Given the description of an element on the screen output the (x, y) to click on. 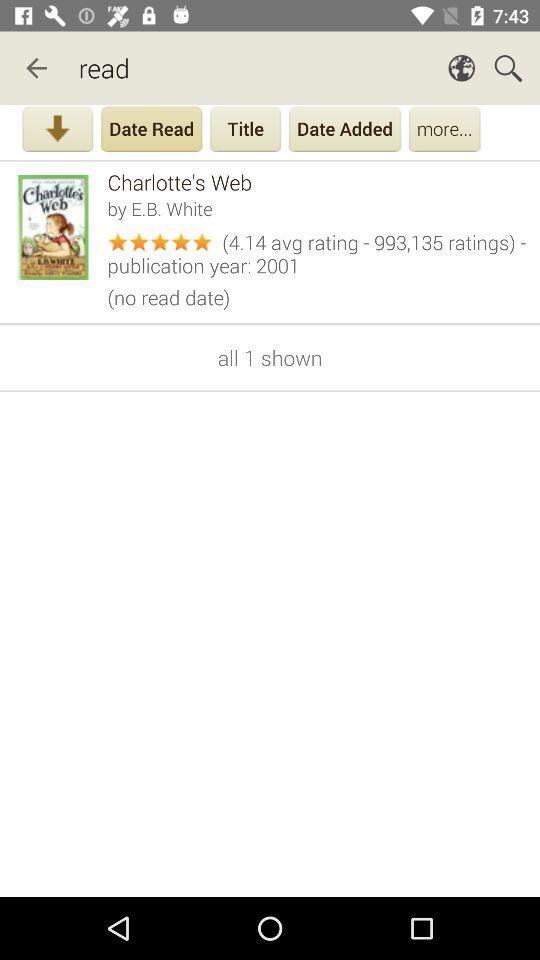
click the item to the left of the read (36, 68)
